Given the description of an element on the screen output the (x, y) to click on. 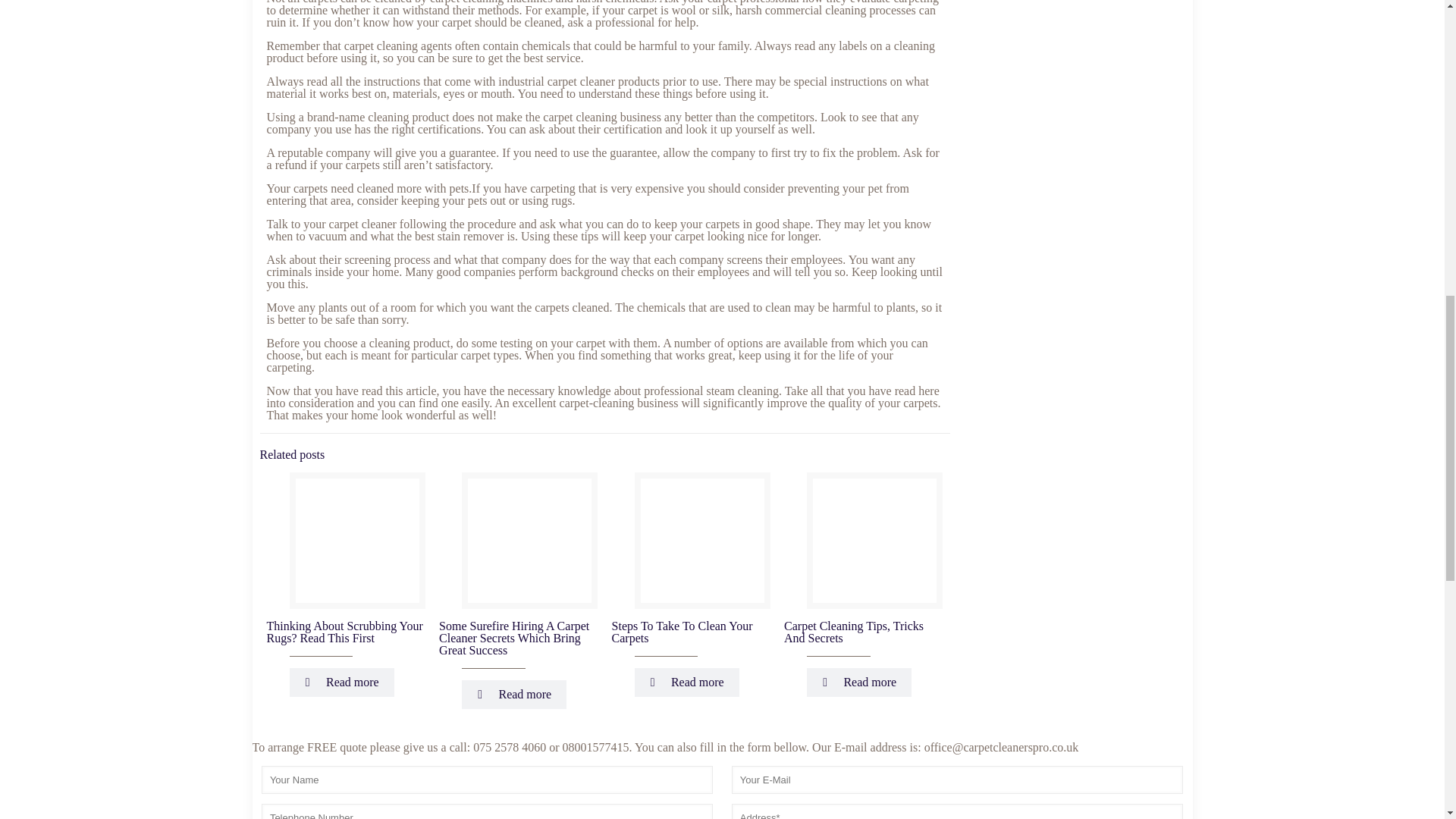
Steps To Take To Clean Your Carpets (681, 631)
Read more (341, 682)
Carpet Cleaning Tips, Tricks And Secrets (853, 631)
Read more (513, 694)
Read more (686, 682)
Read more (858, 682)
Thinking About Scrubbing Your Rugs? Read This First (344, 631)
